Given the description of an element on the screen output the (x, y) to click on. 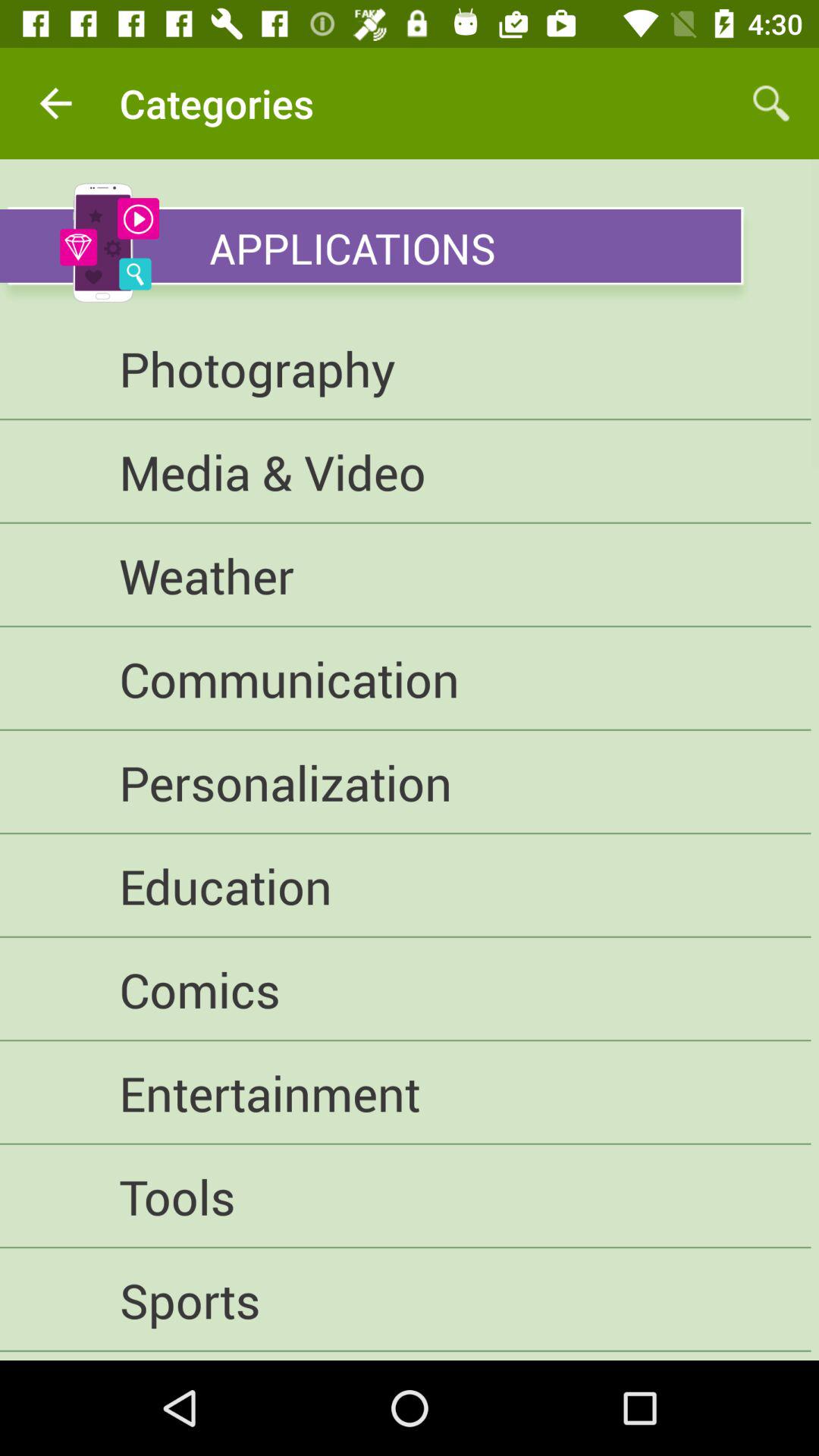
press icon next to categories app (55, 103)
